Given the description of an element on the screen output the (x, y) to click on. 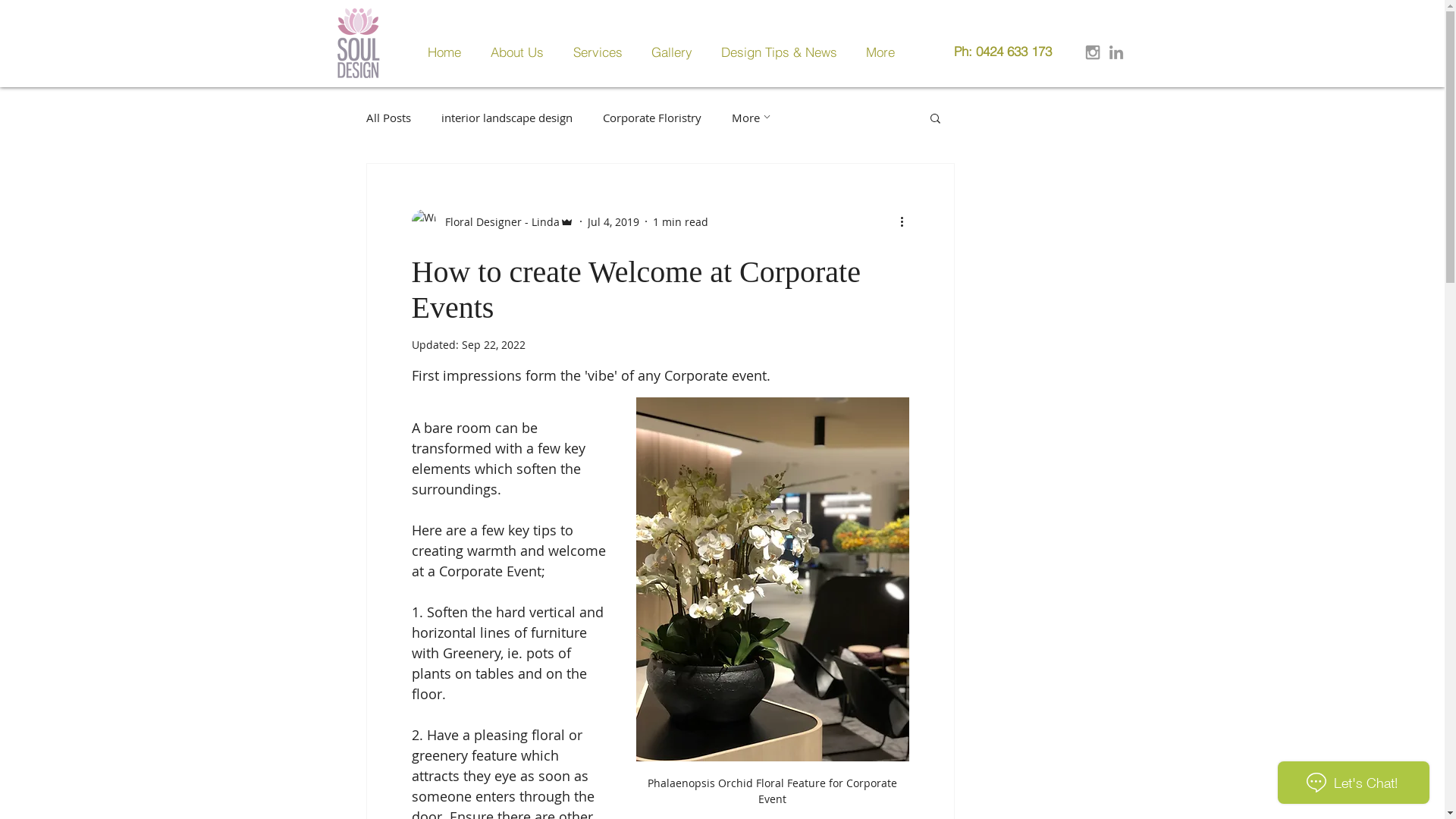
soul-design-logo.png Element type: hover (358, 43)
About Us Element type: text (520, 51)
Design Tips & News Element type: text (781, 51)
interior landscape design Element type: text (506, 117)
Floral Designer - Linda Element type: text (492, 221)
Home Element type: text (446, 51)
Services Element type: text (600, 51)
Corporate Floristry Element type: text (651, 117)
Gallery Element type: text (674, 51)
All Posts Element type: text (387, 117)
